Given the description of an element on the screen output the (x, y) to click on. 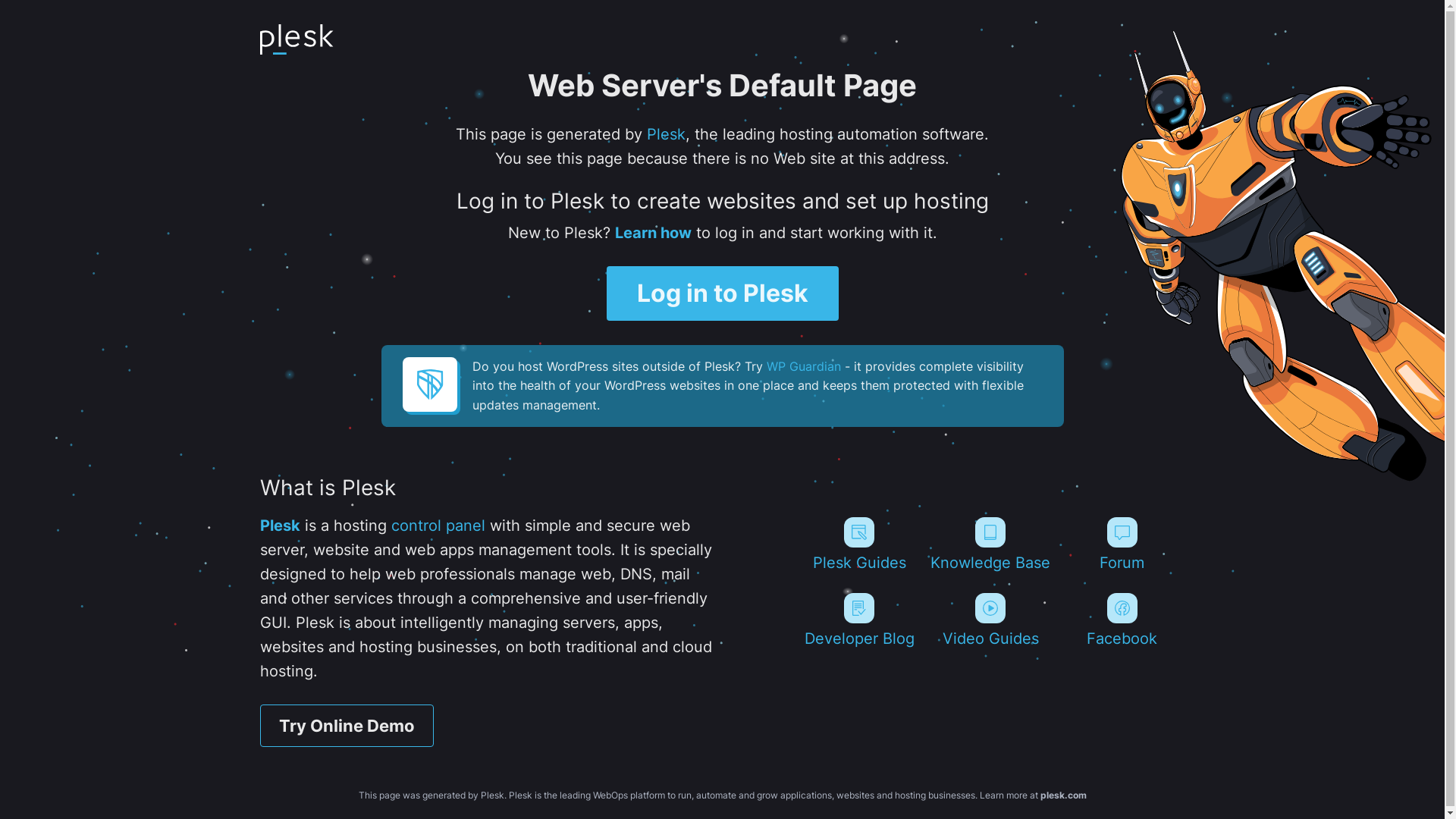
Facebook Element type: text (1121, 620)
Developer Blog Element type: text (858, 620)
WP Guardian Element type: text (802, 365)
Learn how Element type: text (652, 232)
Plesk Guides Element type: text (858, 544)
Knowledge Base Element type: text (990, 544)
Video Guides Element type: text (990, 620)
control panel Element type: text (438, 525)
Log in to Plesk Element type: text (722, 293)
Plesk Element type: text (665, 134)
Plesk Element type: text (279, 525)
plesk.com Element type: text (1063, 794)
Forum Element type: text (1121, 544)
Try Online Demo Element type: text (346, 725)
